Given the description of an element on the screen output the (x, y) to click on. 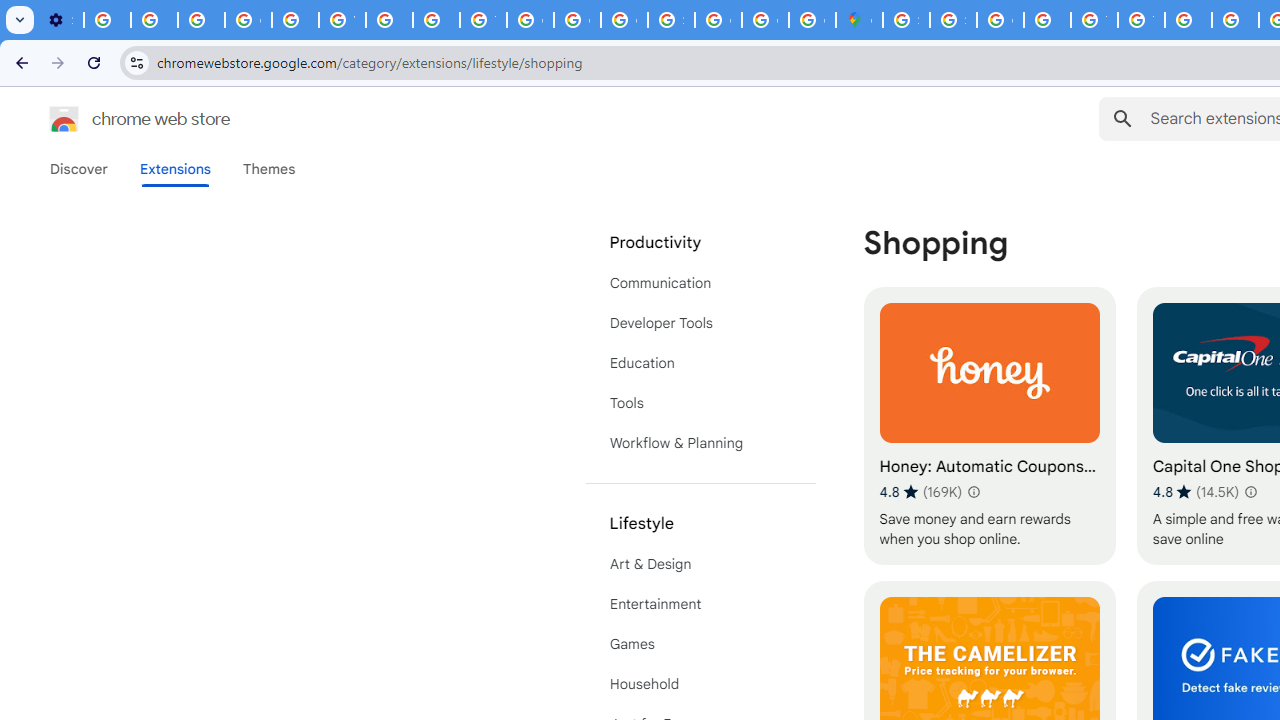
Workflow & Planning (700, 442)
Sign in - Google Accounts (671, 20)
Google Maps (859, 20)
Average rating 4.8 out of 5 stars. 14.5K ratings. (1196, 491)
